Given the description of an element on the screen output the (x, y) to click on. 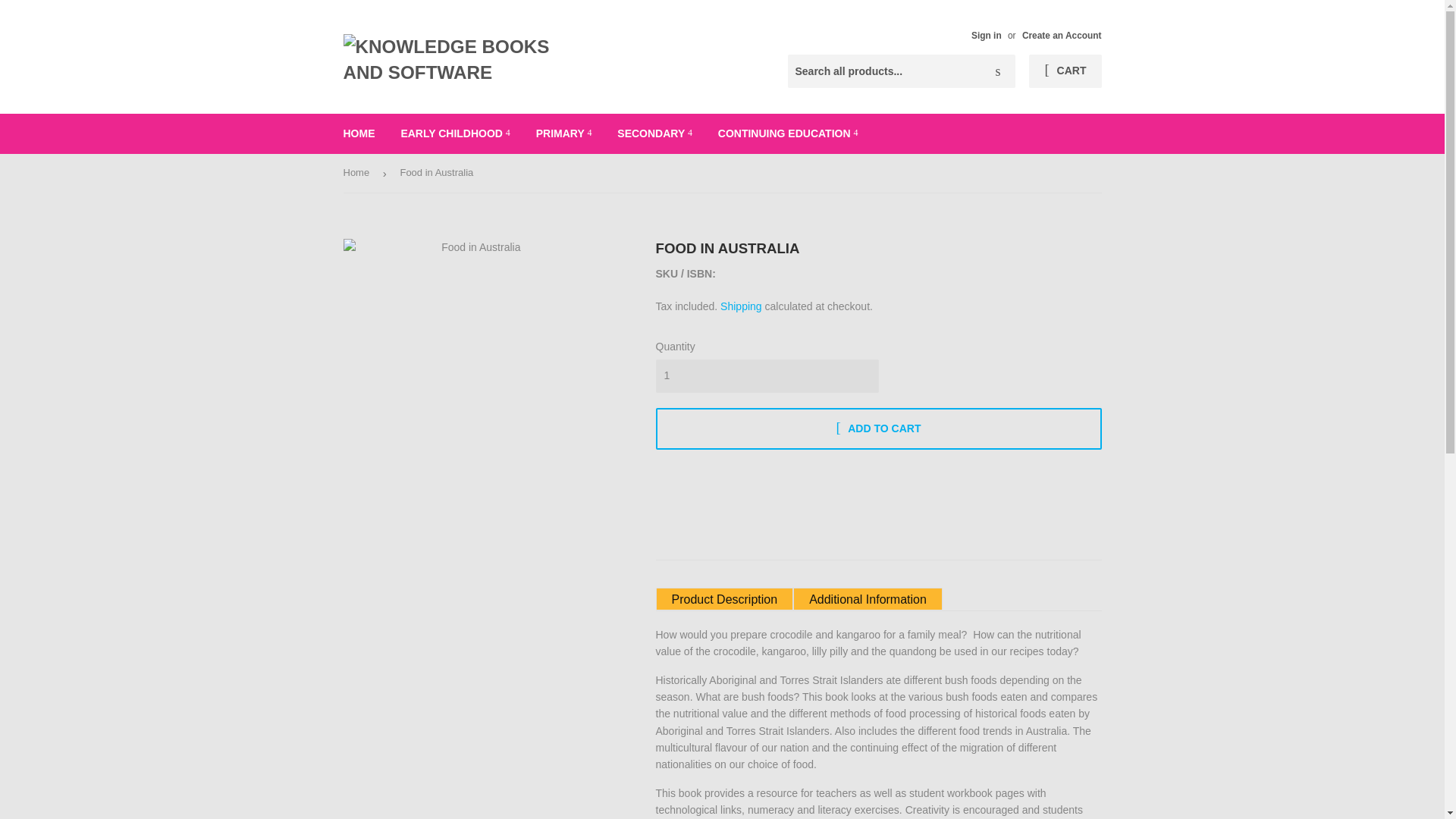
Search (997, 71)
1 (766, 376)
CART (1064, 70)
Create an Account (1062, 35)
Sign in (986, 35)
